Given the description of an element on the screen output the (x, y) to click on. 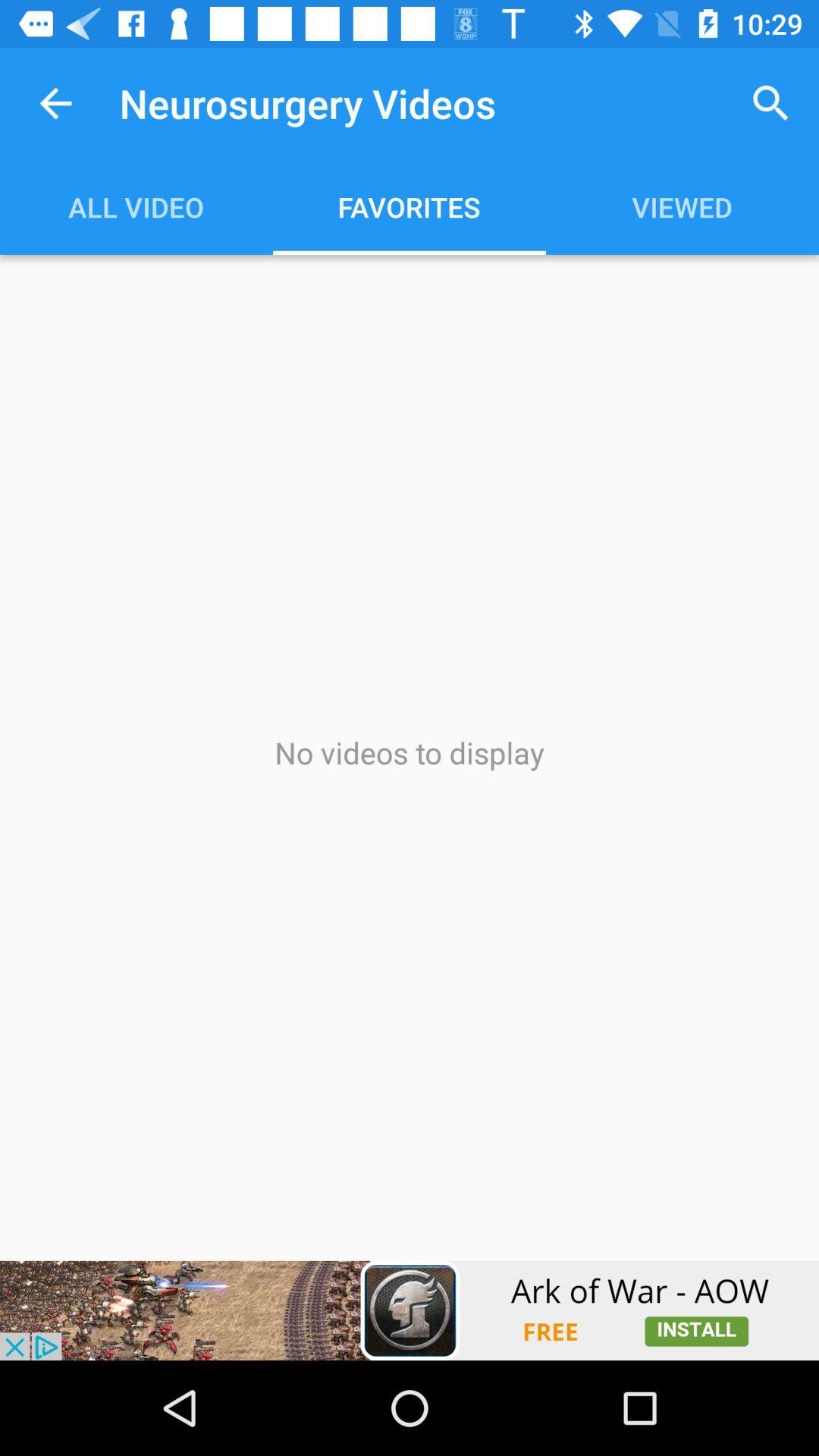
add button (409, 1310)
